Given the description of an element on the screen output the (x, y) to click on. 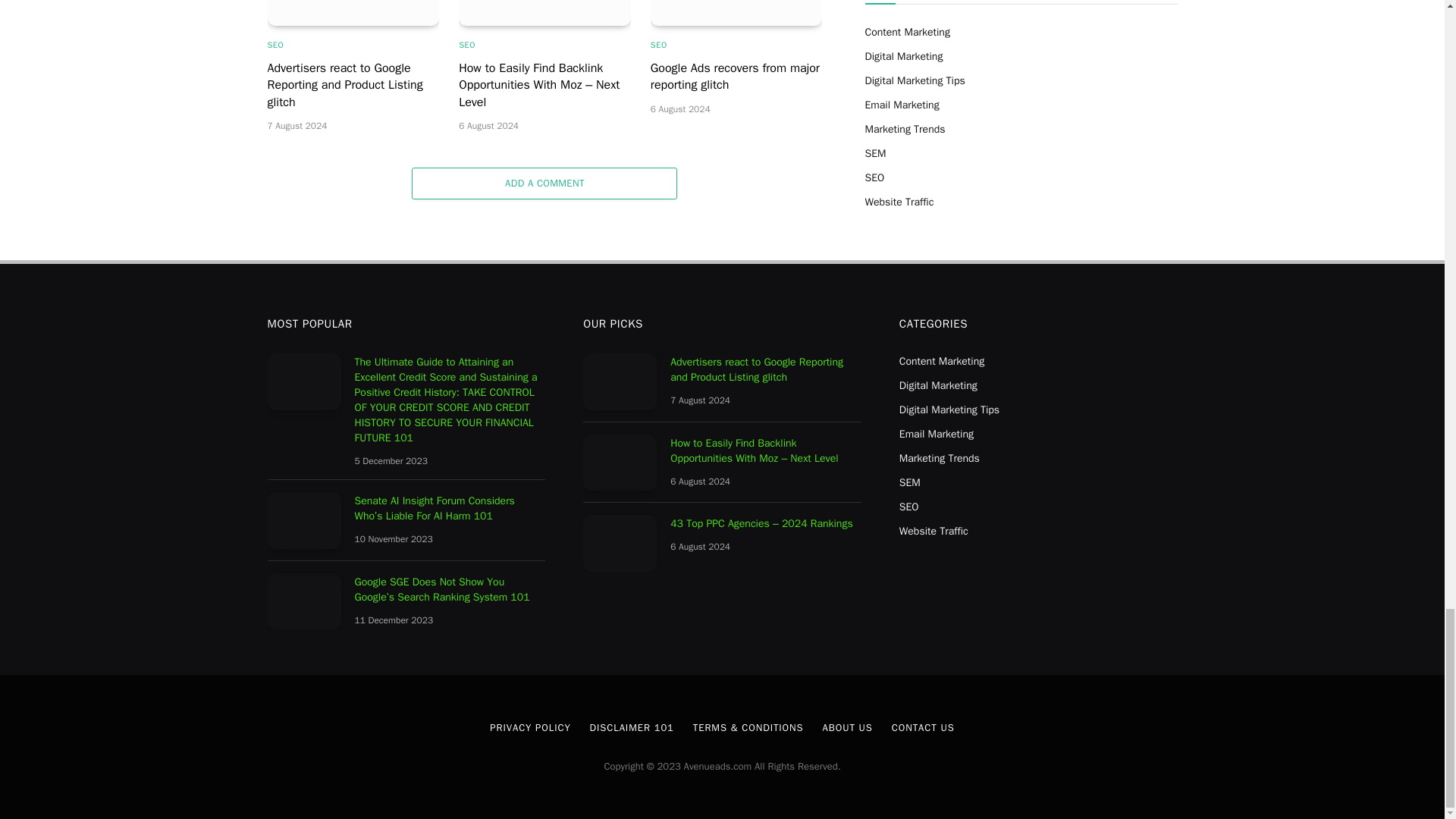
Google Ads recovers from major reporting glitch (736, 12)
SEO (274, 44)
SEO (467, 44)
